Given the description of an element on the screen output the (x, y) to click on. 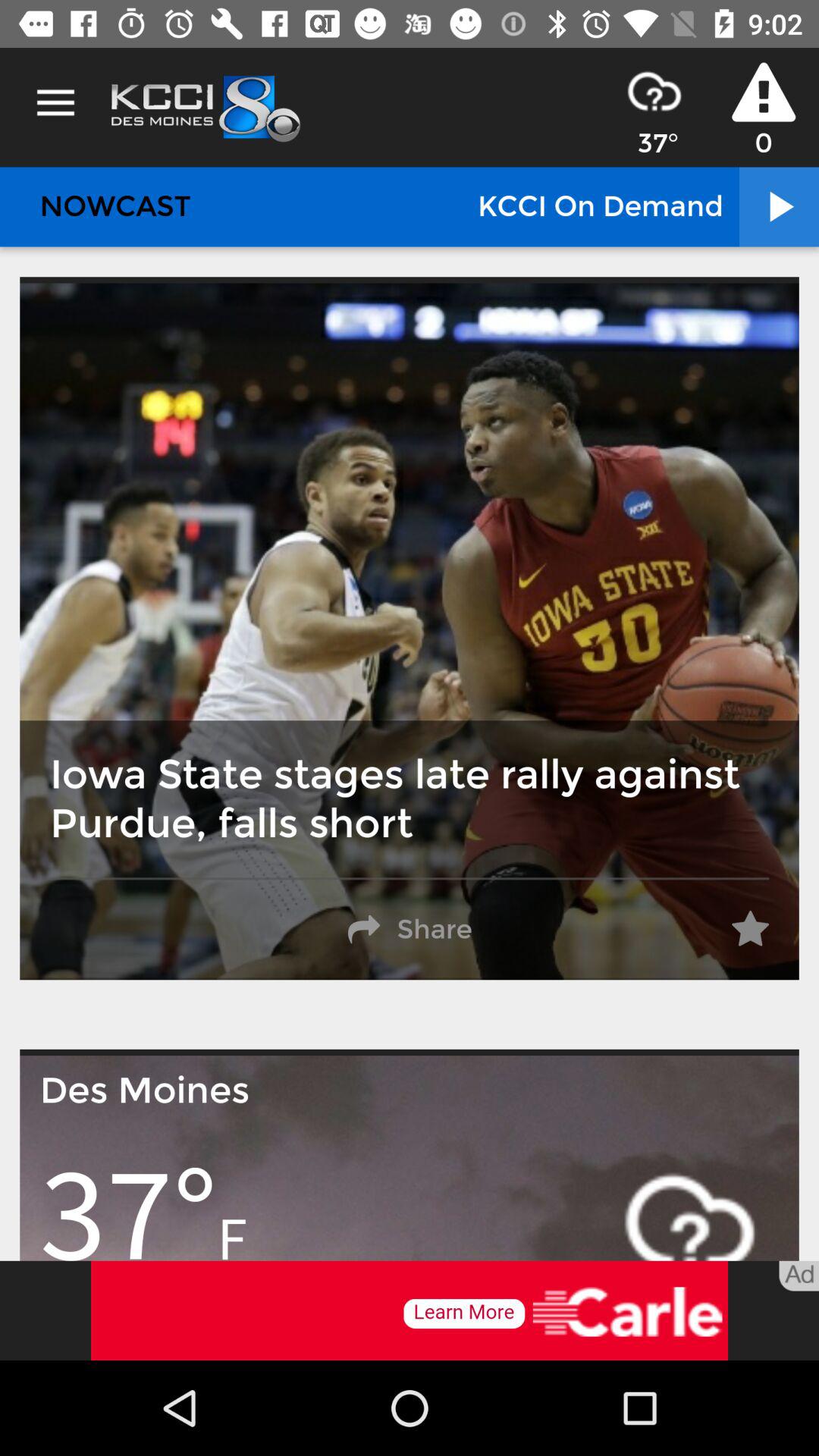
know about the advertisement (409, 1310)
